Given the description of an element on the screen output the (x, y) to click on. 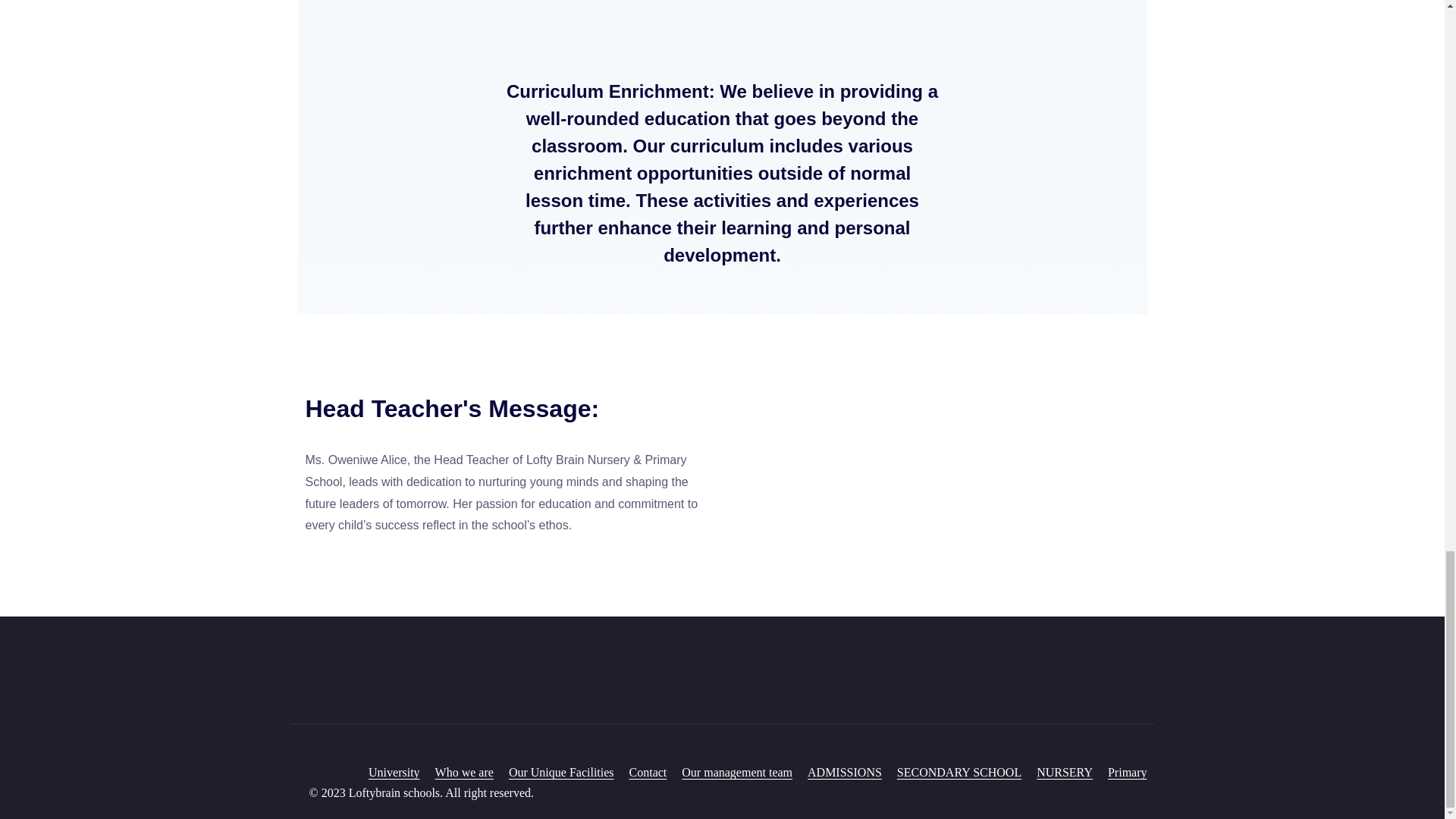
ADMISSIONS (845, 771)
Contact (647, 771)
University (394, 771)
SECONDARY SCHOOL (959, 771)
Primary (1127, 771)
Our management team (736, 771)
NURSERY (1064, 771)
Our Unique Facilities (561, 771)
Who we are (464, 771)
